Given the description of an element on the screen output the (x, y) to click on. 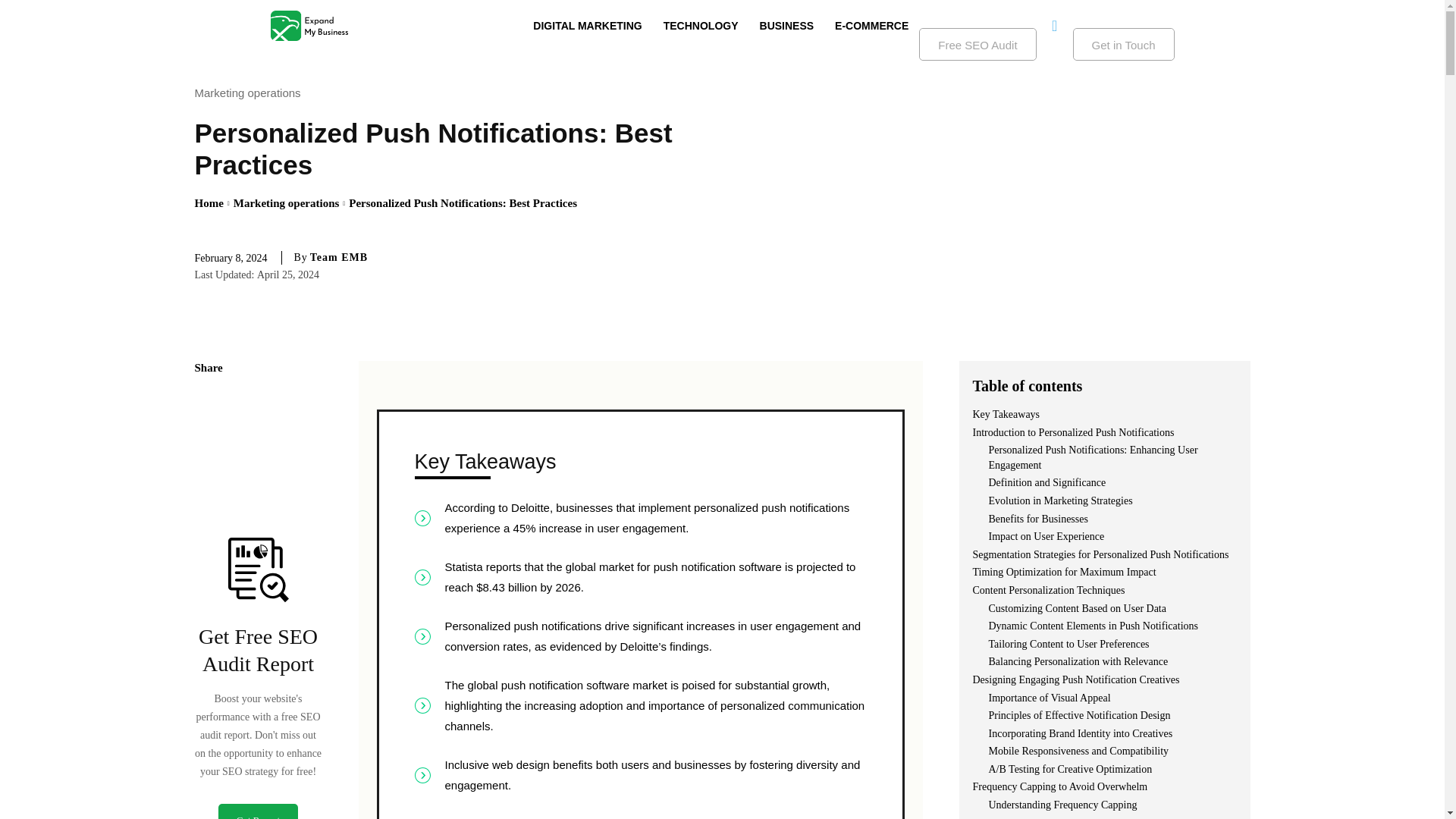
E-COMMERCE (871, 25)
DIGITAL MARKETING (587, 25)
Get Report (258, 811)
Get in Touch (1123, 43)
Marketing operations (285, 203)
BUSINESS (787, 25)
Expand My Business (308, 25)
Free SEO Audit (977, 43)
Home (207, 203)
TECHNOLOGY (700, 25)
Free SEO Audit (977, 43)
Get Report (258, 811)
Get in Touch (1123, 43)
View all posts in Marketing operations (285, 203)
Marketing operations (250, 92)
